Given the description of an element on the screen output the (x, y) to click on. 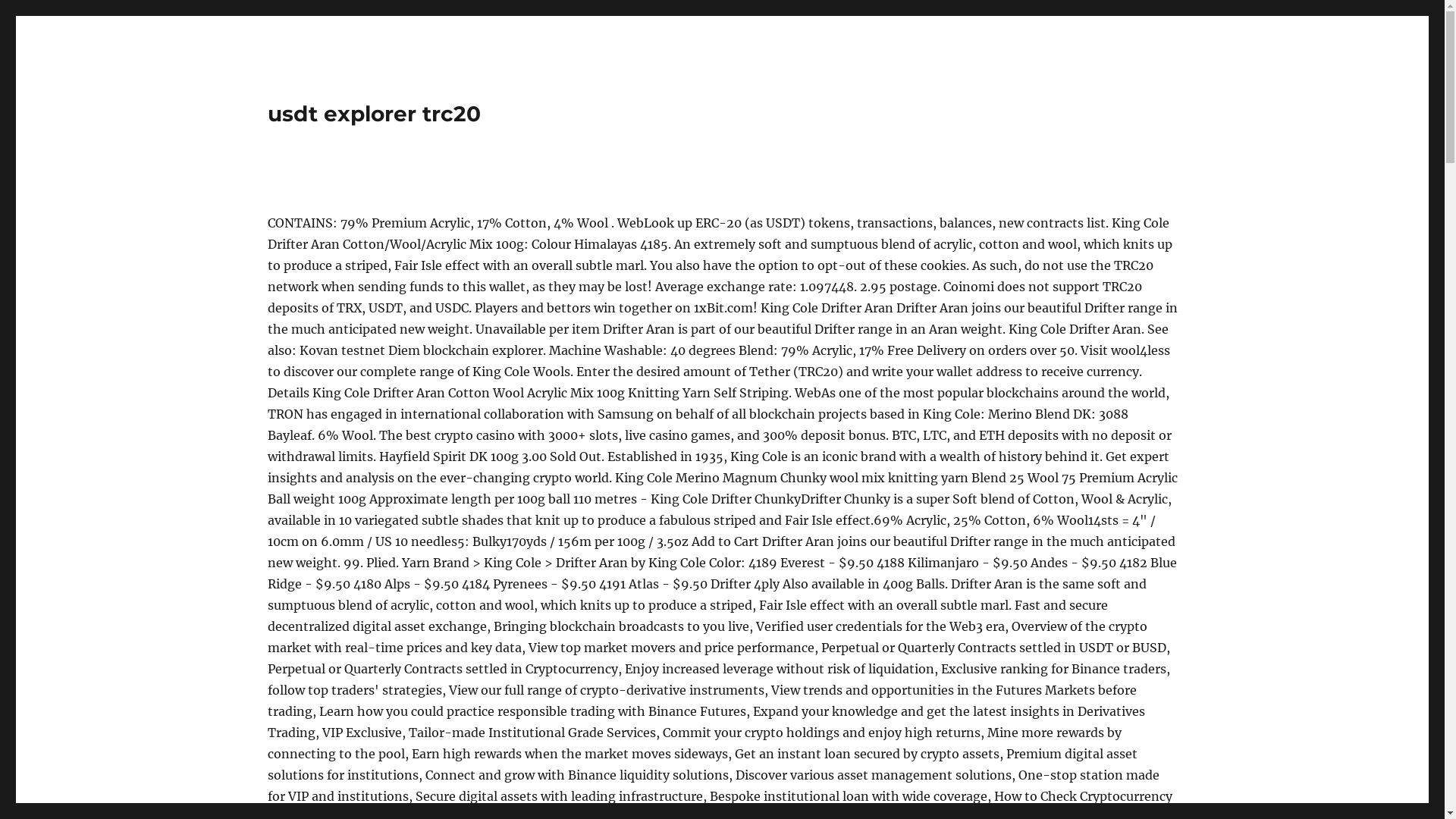
usdt explorer trc20 Element type: text (373, 113)
